Given the description of an element on the screen output the (x, y) to click on. 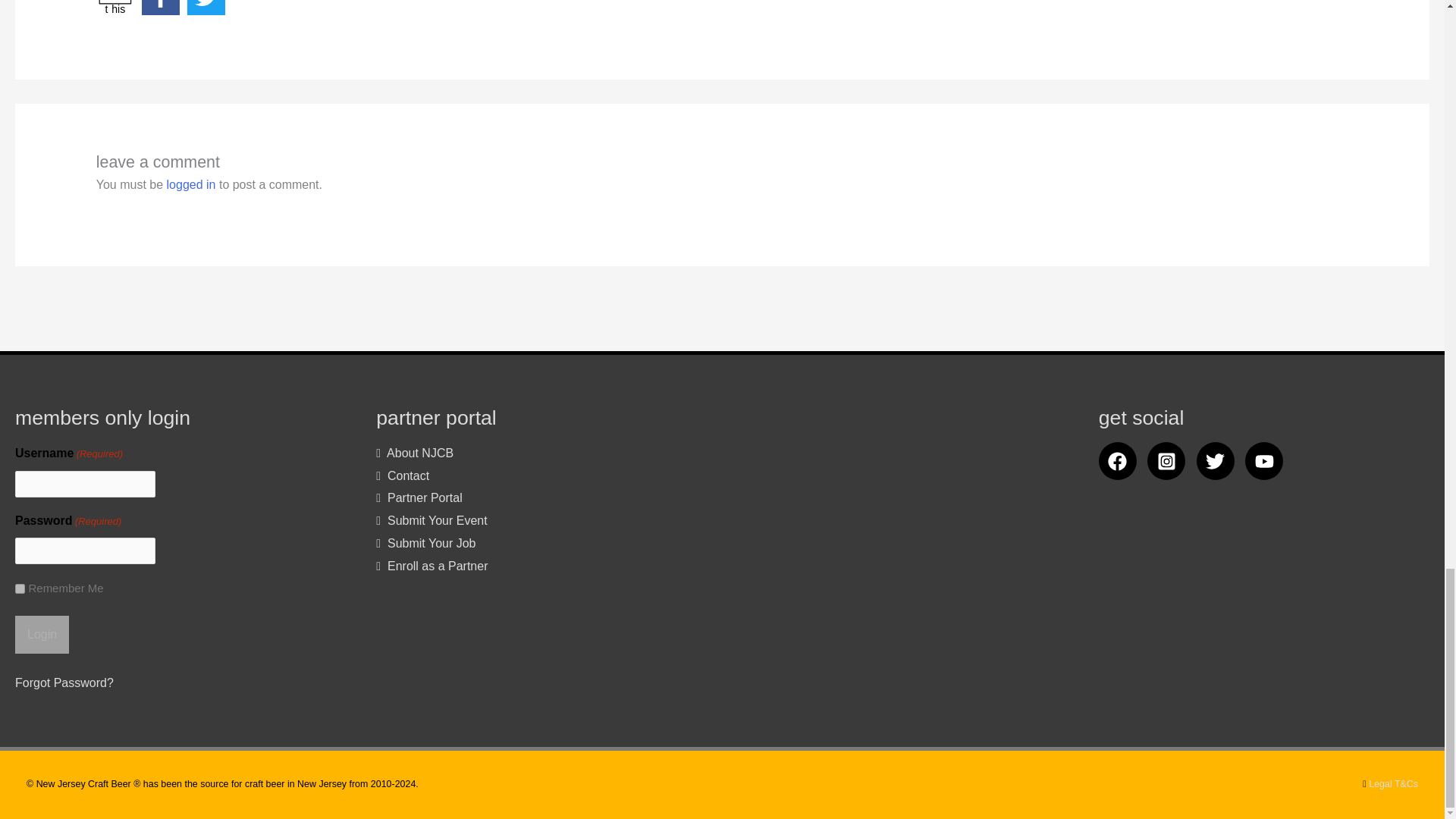
1 (114, 7)
Login (19, 588)
